Given the description of an element on the screen output the (x, y) to click on. 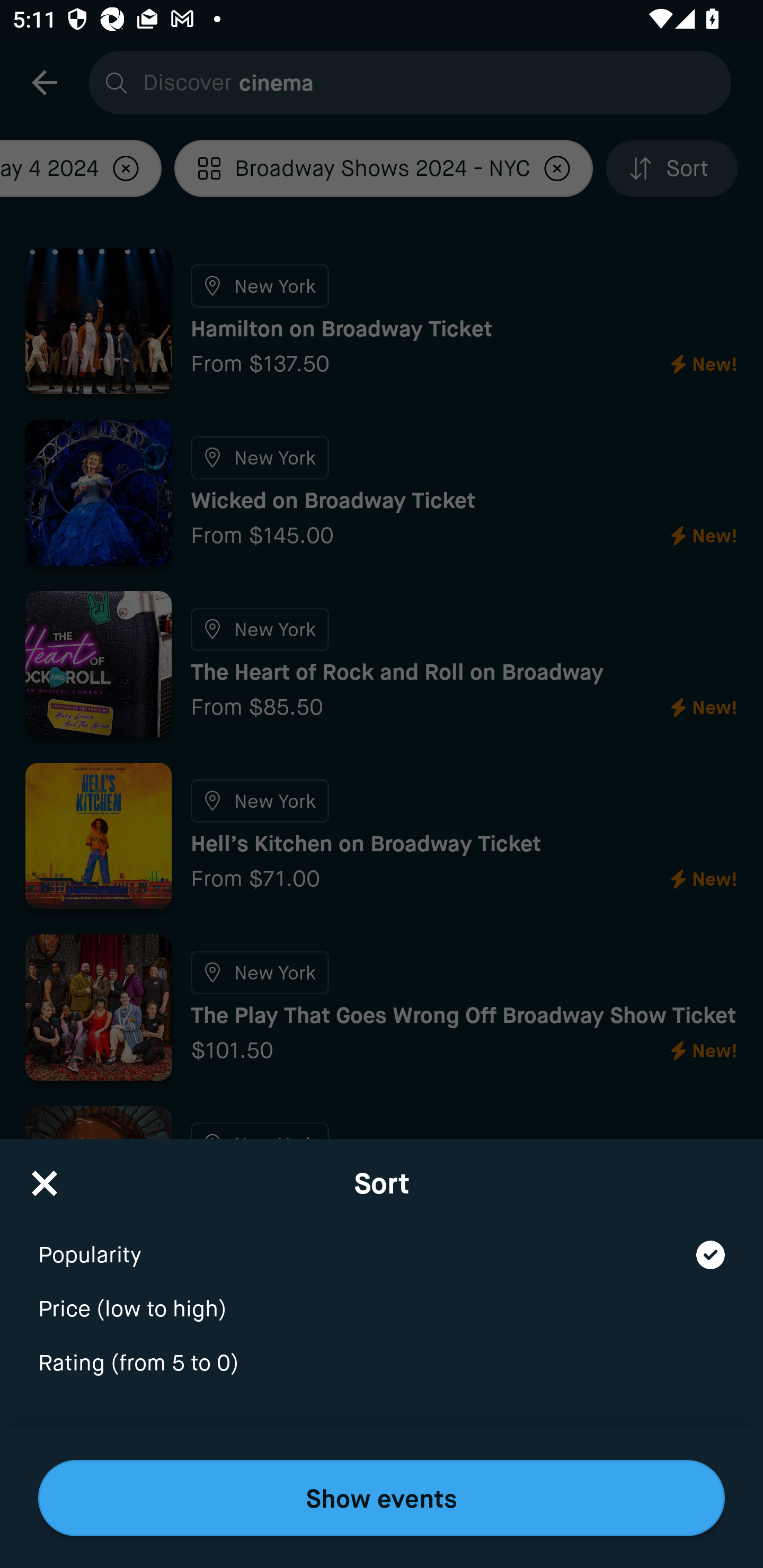
CloseButton (44, 1177)
Popularity Selected Icon (381, 1243)
Price (low to high) (381, 1297)
Rating (from 5 to 0) (381, 1362)
Show events (381, 1497)
